Given the description of an element on the screen output the (x, y) to click on. 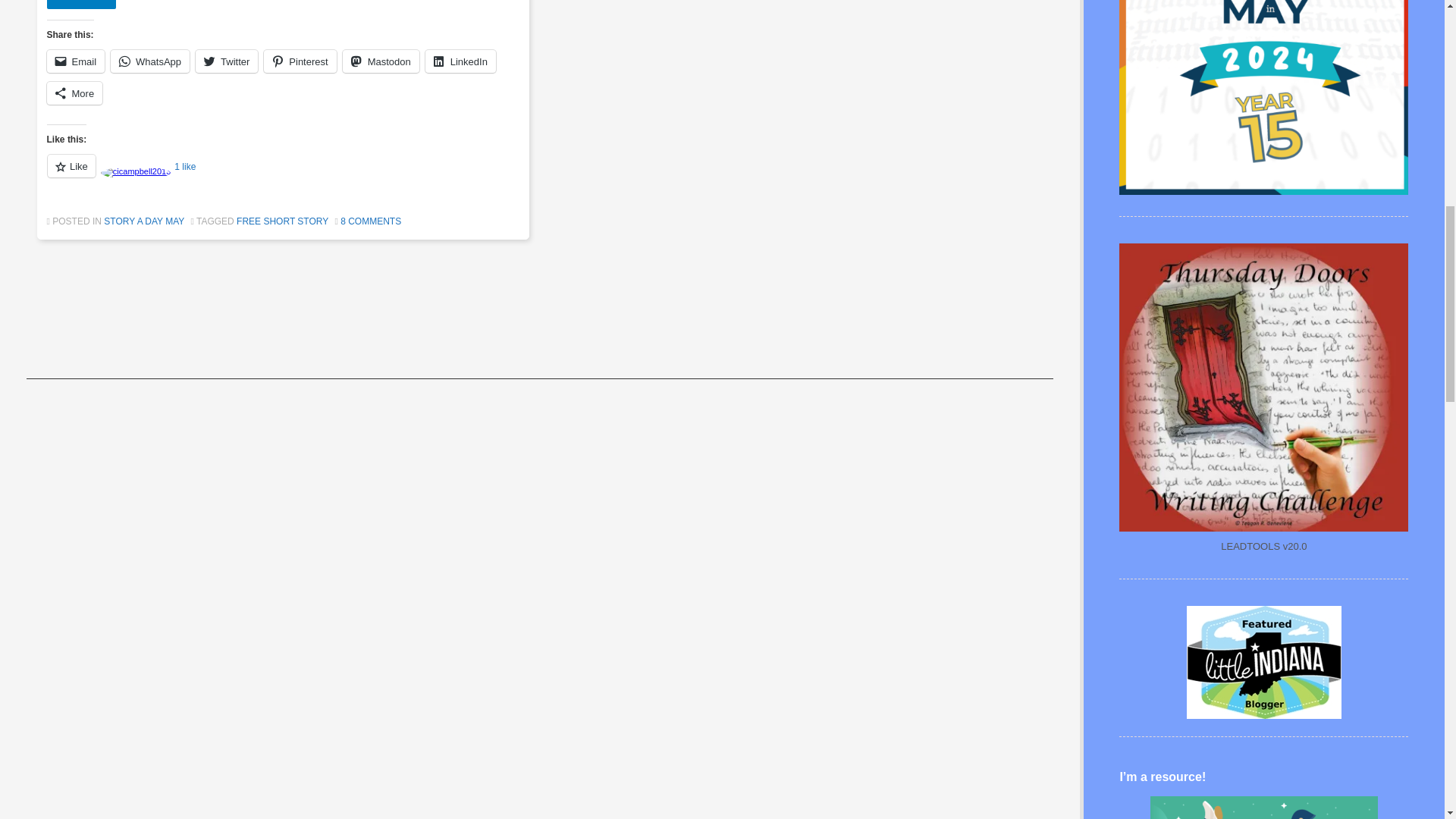
Click to share on LinkedIn (460, 60)
Click to email a link to a friend (75, 60)
Click to share on WhatsApp (149, 60)
Click to share on Pinterest (299, 60)
Click to share on Mastodon (380, 60)
Click to share on Twitter (226, 60)
